Given the description of an element on the screen output the (x, y) to click on. 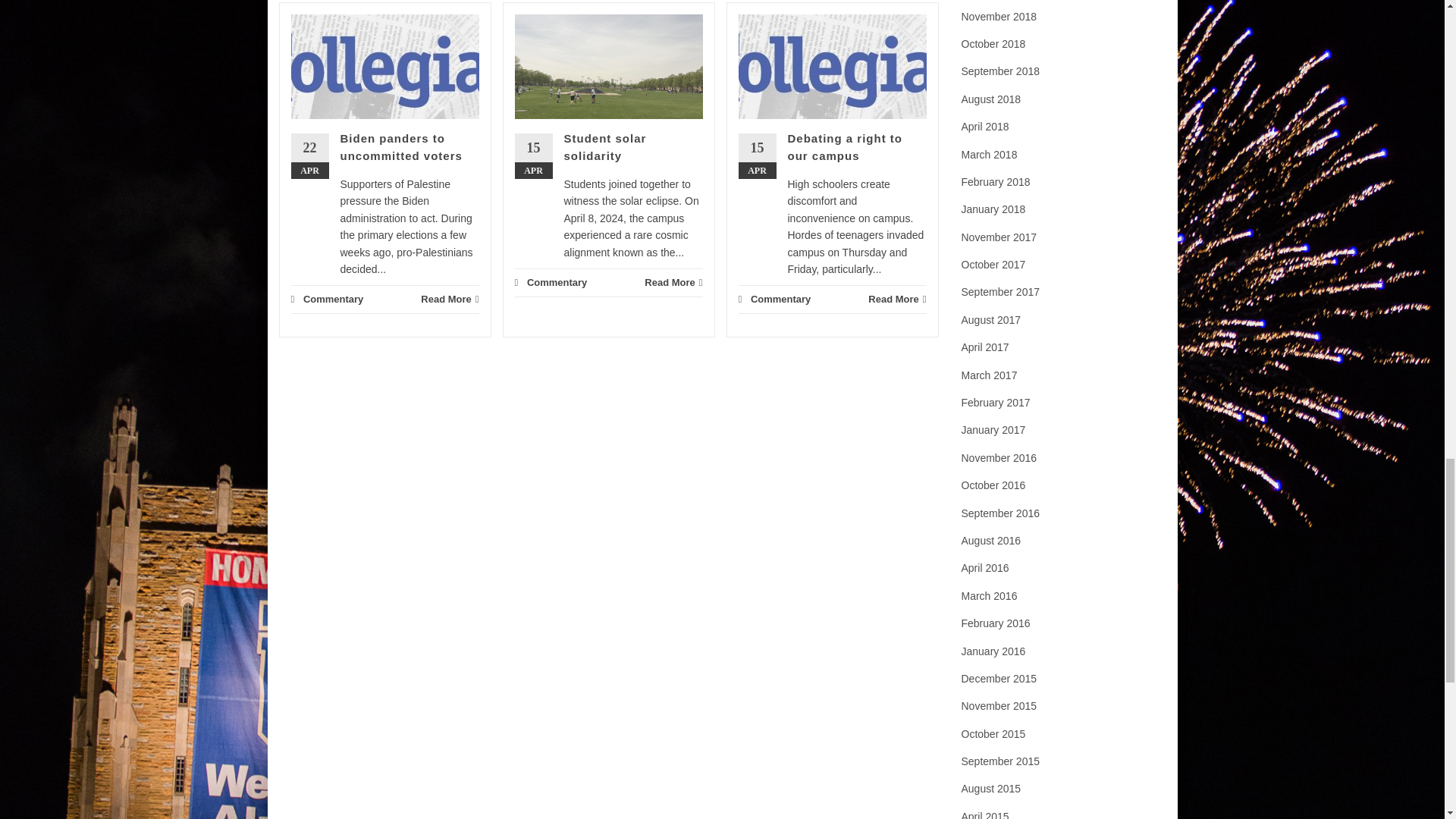
Commentary (332, 298)
Biden panders to uncommitted voters (400, 146)
